Given the description of an element on the screen output the (x, y) to click on. 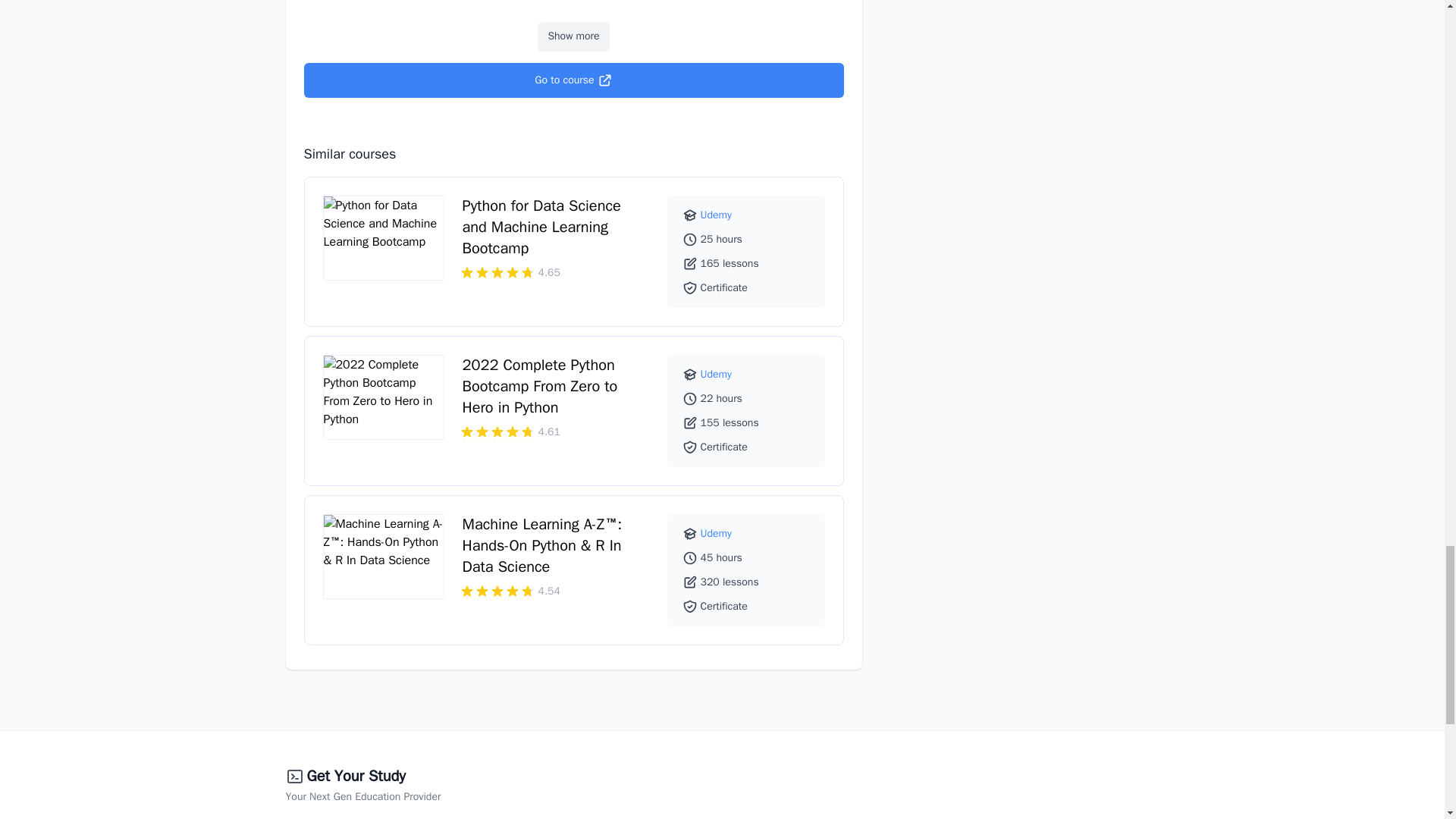
Udemy (716, 373)
2022 Complete Python Bootcamp From Zero to Hero in Python (540, 385)
Go to course (572, 80)
Udemy (716, 533)
Python for Data Science and Machine Learning Bootcamp (542, 226)
Show more (572, 36)
Udemy (716, 214)
Get Your Study (354, 776)
